Given the description of an element on the screen output the (x, y) to click on. 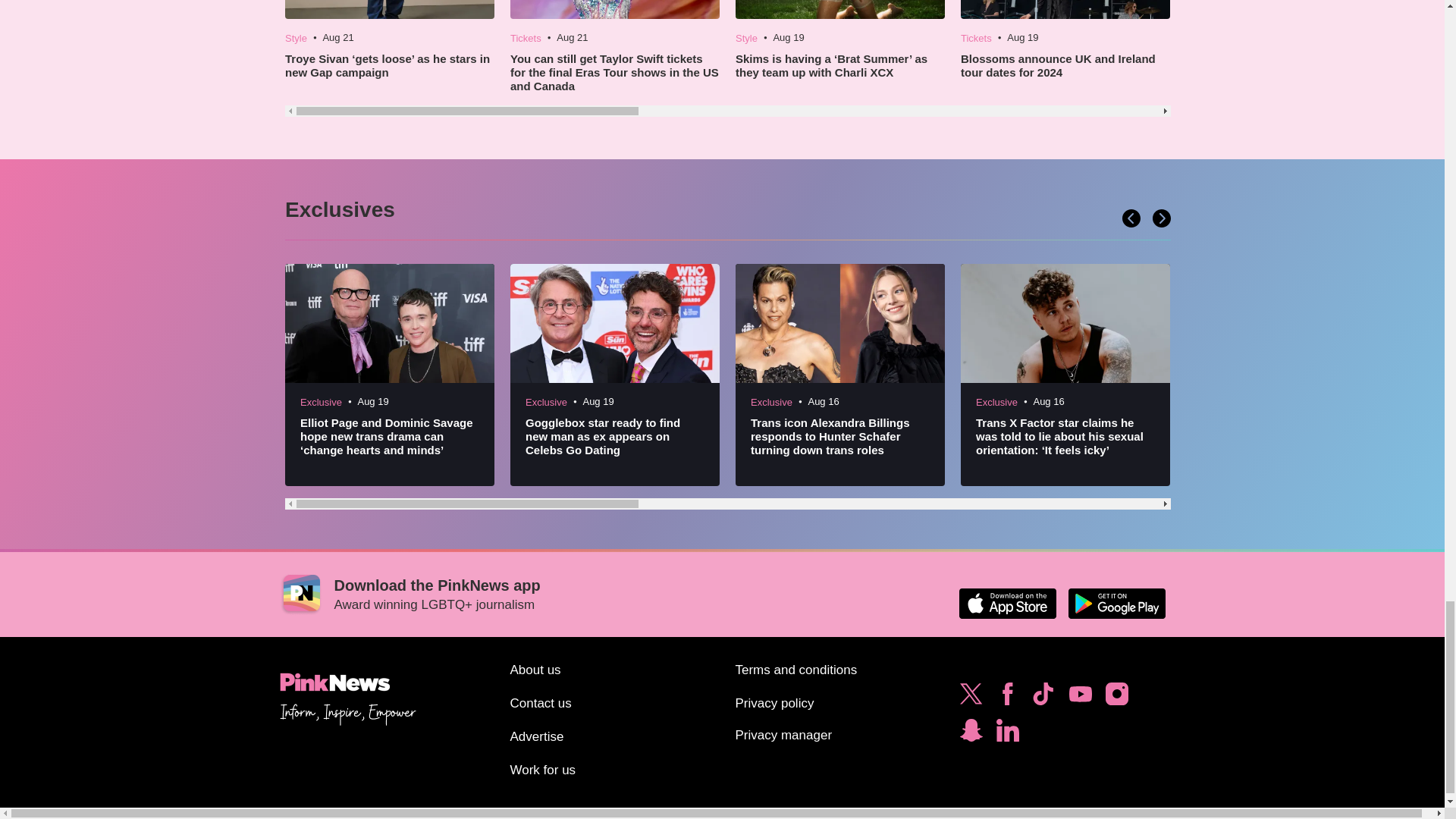
Follow PinkNews on Instagram (1116, 697)
Follow PinkNews on Twitter (970, 697)
Subscribe to PinkNews on Snapchat (970, 733)
Subscribe to PinkNews on YouTube (1079, 697)
Download the PinkNews app on the Apple App Store (1006, 603)
Follow PinkNews on TikTok (1042, 697)
Follow PinkNews on LinkedIn (1007, 733)
Download the PinkNews app on Google Play (1115, 603)
